Given the description of an element on the screen output the (x, y) to click on. 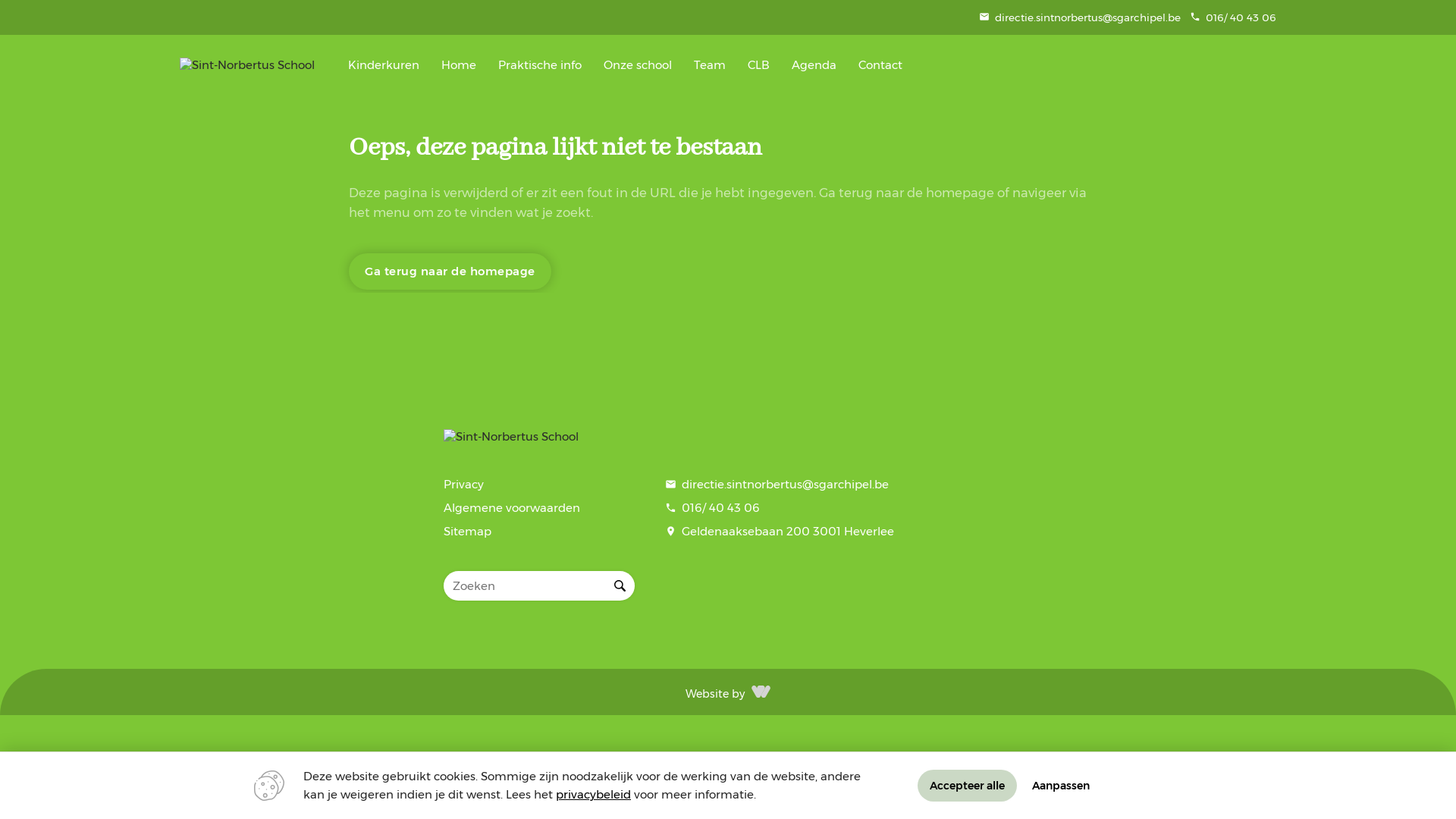
phone
016/ 40 43 06 Element type: text (779, 512)
location_on
Geldenaaksebaan 200 3001 Heverlee Element type: text (779, 535)
Sint-Norbertus School Element type: hover (246, 64)
Home Element type: text (458, 64)
Accepteer alle Element type: text (966, 785)
Webhero Element type: hover (760, 691)
CLB Element type: text (758, 64)
Kinderkuren Element type: text (383, 64)
Algemene voorwaarden Element type: text (538, 512)
privacybeleid Element type: text (592, 794)
Privacy Element type: text (538, 488)
phone
016/ 40 43 06 Element type: text (1232, 17)
Contact Element type: text (880, 64)
Sitemap Element type: text (538, 535)
Website by Element type: text (714, 690)
Sint-Norbertus School Element type: hover (510, 436)
Ga terug naar de homepage Element type: text (449, 270)
mail
directie.sintnorbertus@sgarchipel.be Element type: text (779, 488)
Aanpassen Element type: text (1060, 785)
mail
directie.sintnorbertus@sgarchipel.be Element type: text (1079, 17)
Agenda Element type: text (814, 64)
Team Element type: text (710, 64)
